Given the description of an element on the screen output the (x, y) to click on. 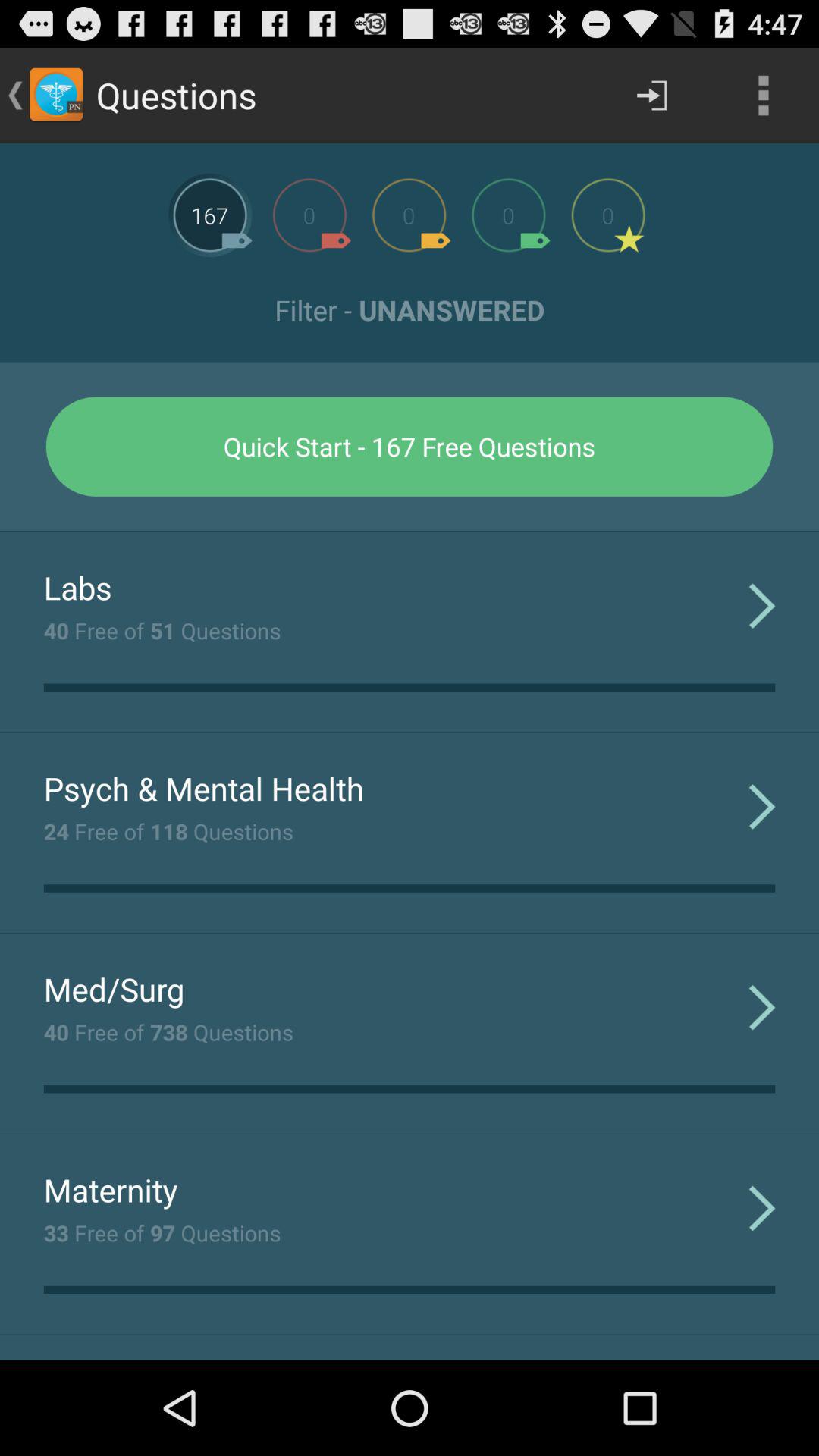
turn off the icon above filter - unanswered (763, 95)
